Given the description of an element on the screen output the (x, y) to click on. 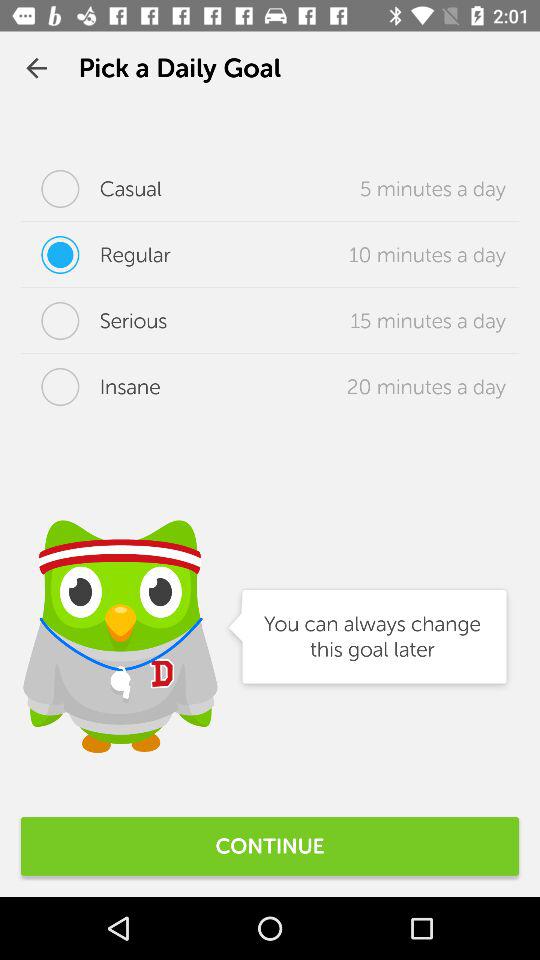
launch the icon to the left of the 20 minutes a (90, 387)
